Given the description of an element on the screen output the (x, y) to click on. 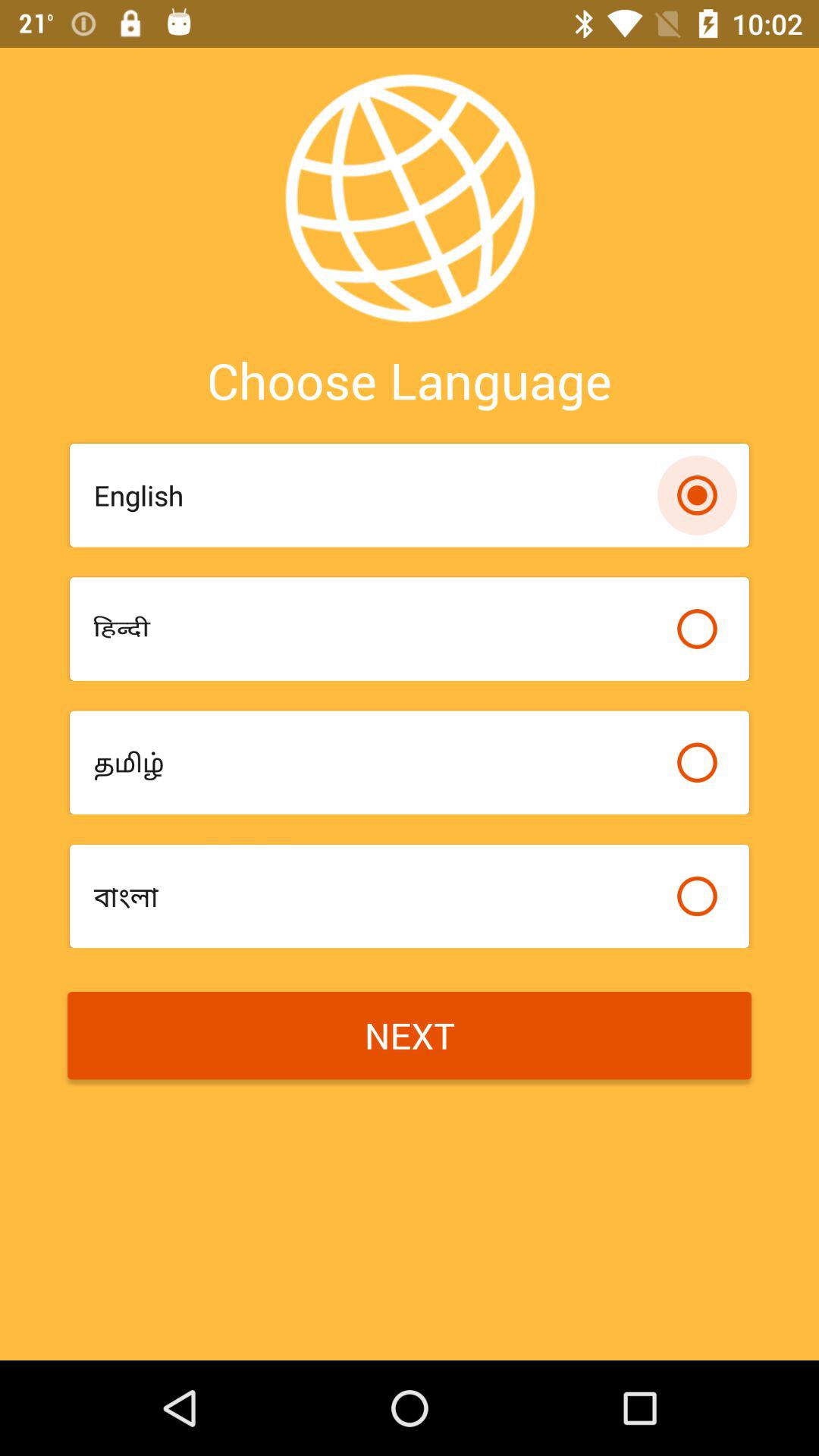
select preferred language (697, 628)
